Given the description of an element on the screen output the (x, y) to click on. 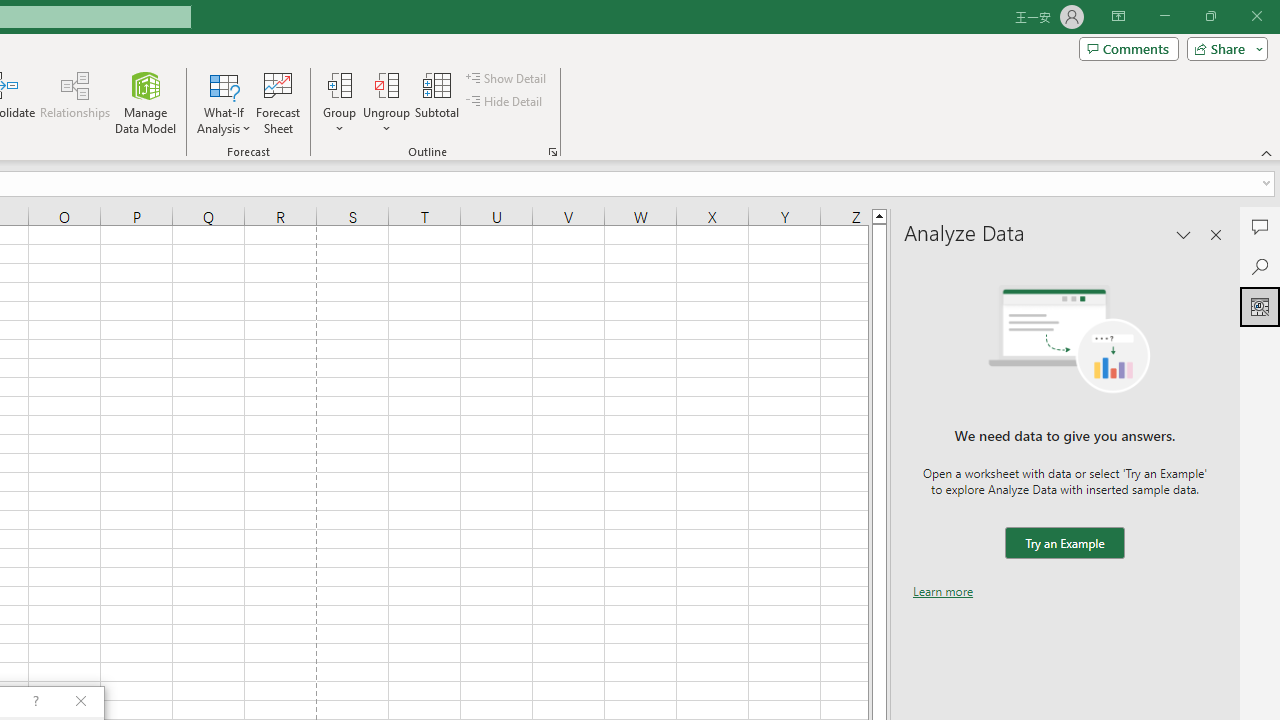
Subtotal (437, 102)
Group... (339, 84)
Show Detail (507, 78)
Minimize (1164, 16)
Collapse the Ribbon (1267, 152)
Group and Outline Settings (552, 151)
Group... (339, 102)
Learn more (943, 591)
Line up (879, 215)
Hide Detail (505, 101)
Close (1256, 16)
Close pane (1215, 234)
Search (1260, 266)
Comments (1260, 226)
